Given the description of an element on the screen output the (x, y) to click on. 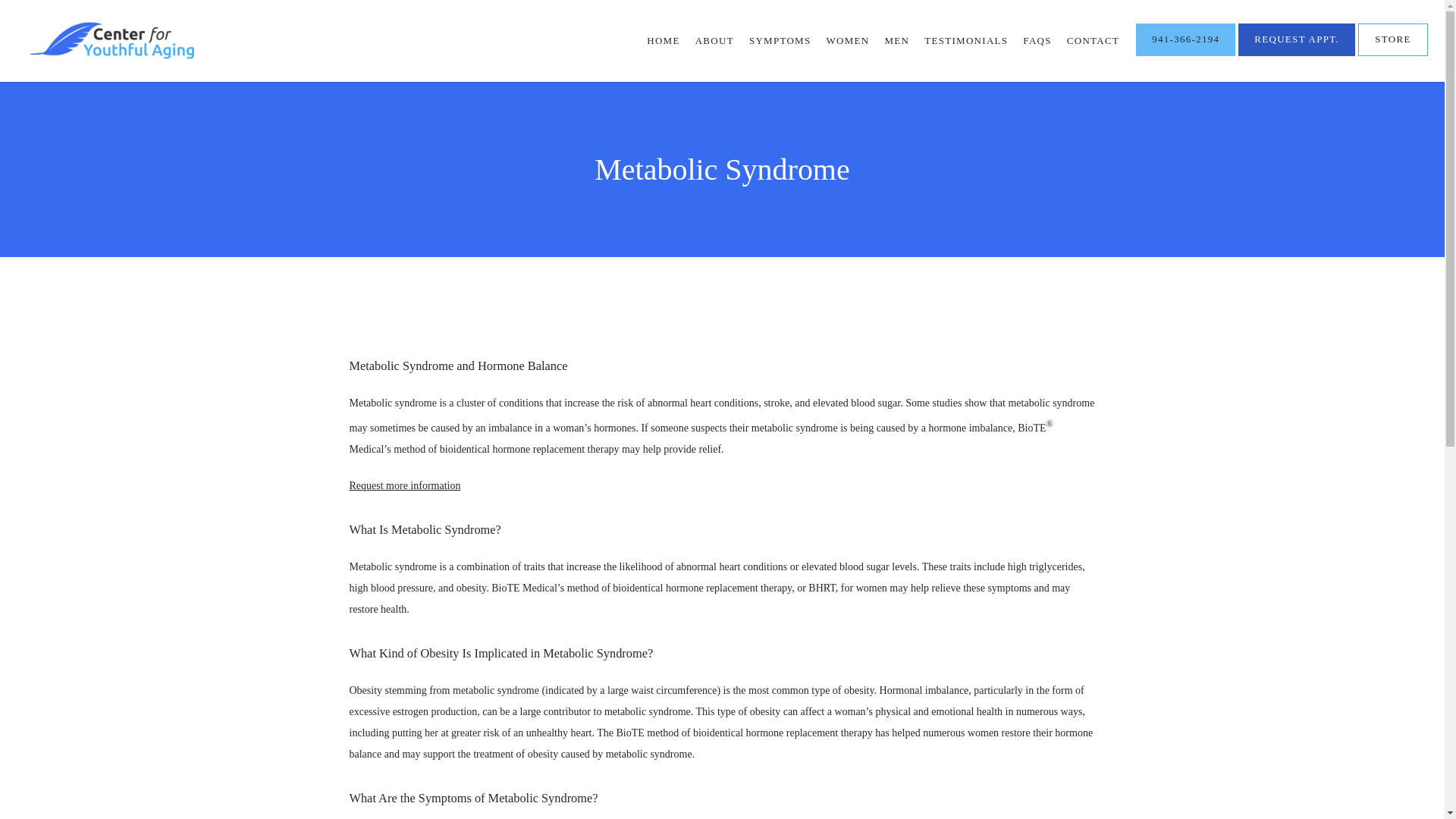
SYMPTOMS (779, 40)
ABOUT (714, 40)
Request more information (404, 485)
STORE (1392, 54)
HOME (662, 40)
CONTACT (1093, 40)
WOMEN (847, 40)
REQUEST APPT. (1296, 54)
TESTIMONIALS (965, 40)
MEN (895, 40)
